Given the description of an element on the screen output the (x, y) to click on. 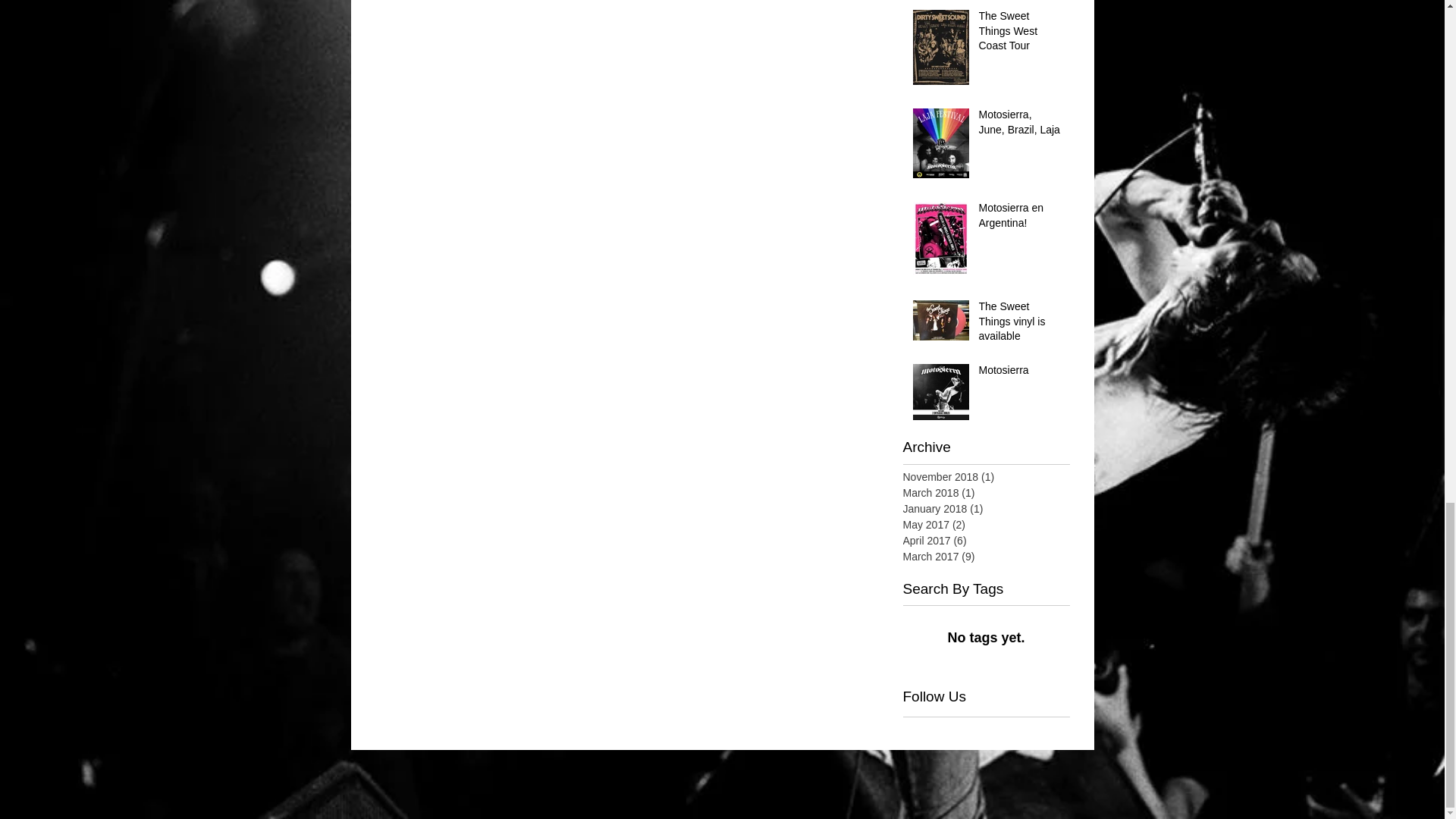
The Sweet Things West Coast Tour (1018, 34)
Motosierra, June, Brazil, Laja (1018, 125)
Motosierra (1018, 373)
The Sweet Things vinyl is available (1018, 324)
Motosierra en Argentina! (1018, 218)
